Given the description of an element on the screen output the (x, y) to click on. 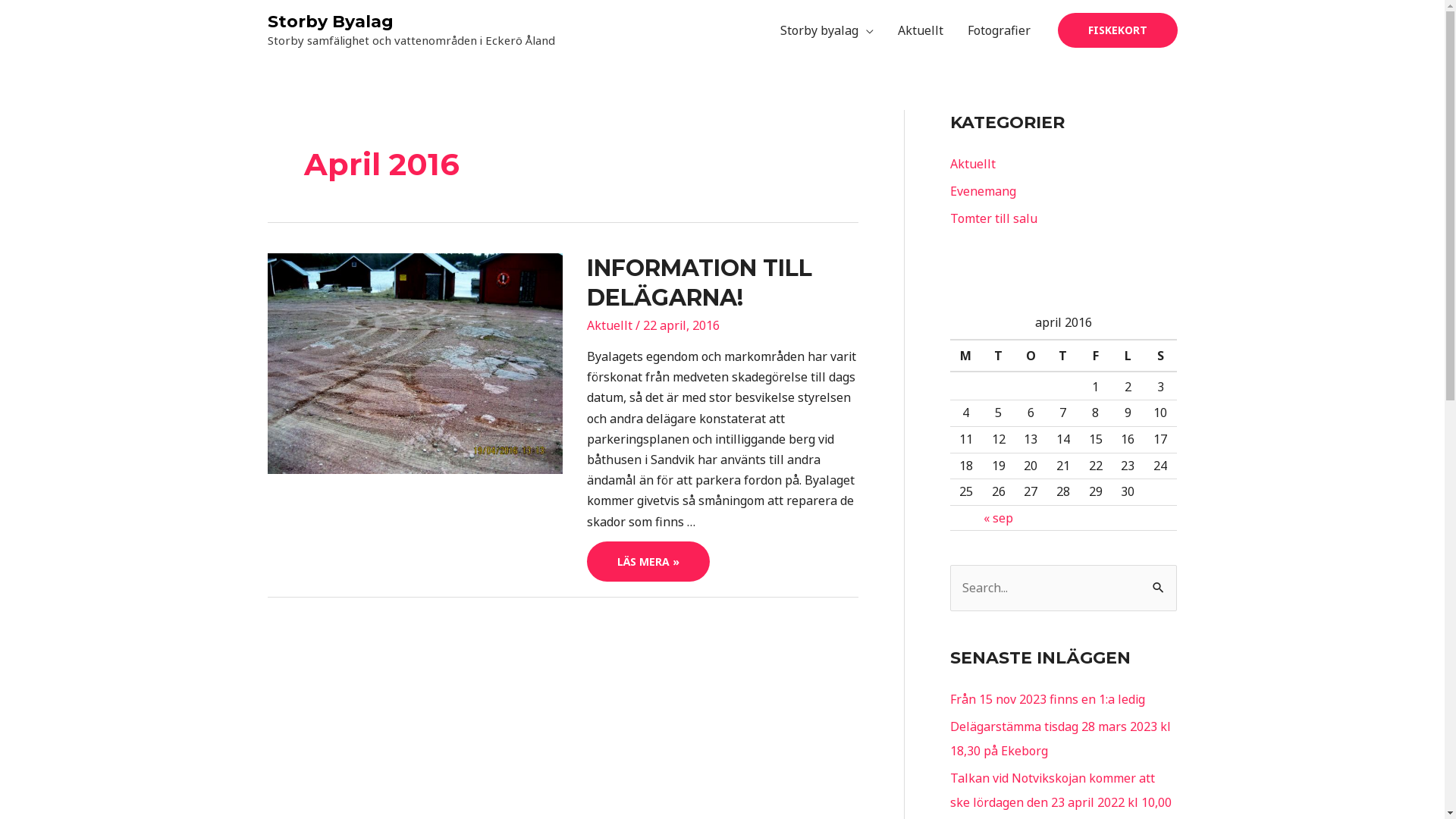
Aktuellt Element type: text (609, 324)
Tomter till salu Element type: text (992, 218)
Aktuellt Element type: text (971, 163)
Aktuellt Element type: text (920, 29)
Storby Byalag Element type: text (329, 21)
Storby byalag Element type: text (825, 29)
Evenemang Element type: text (982, 190)
Fotografier Element type: text (998, 29)
FISKEKORT Element type: text (1116, 29)
